Given the description of an element on the screen output the (x, y) to click on. 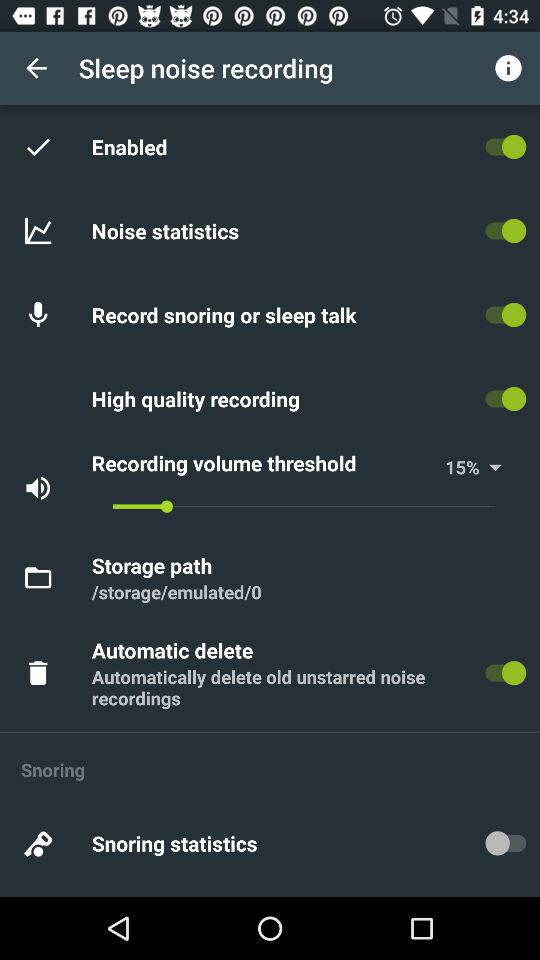
turn off the enabled item (132, 146)
